Given the description of an element on the screen output the (x, y) to click on. 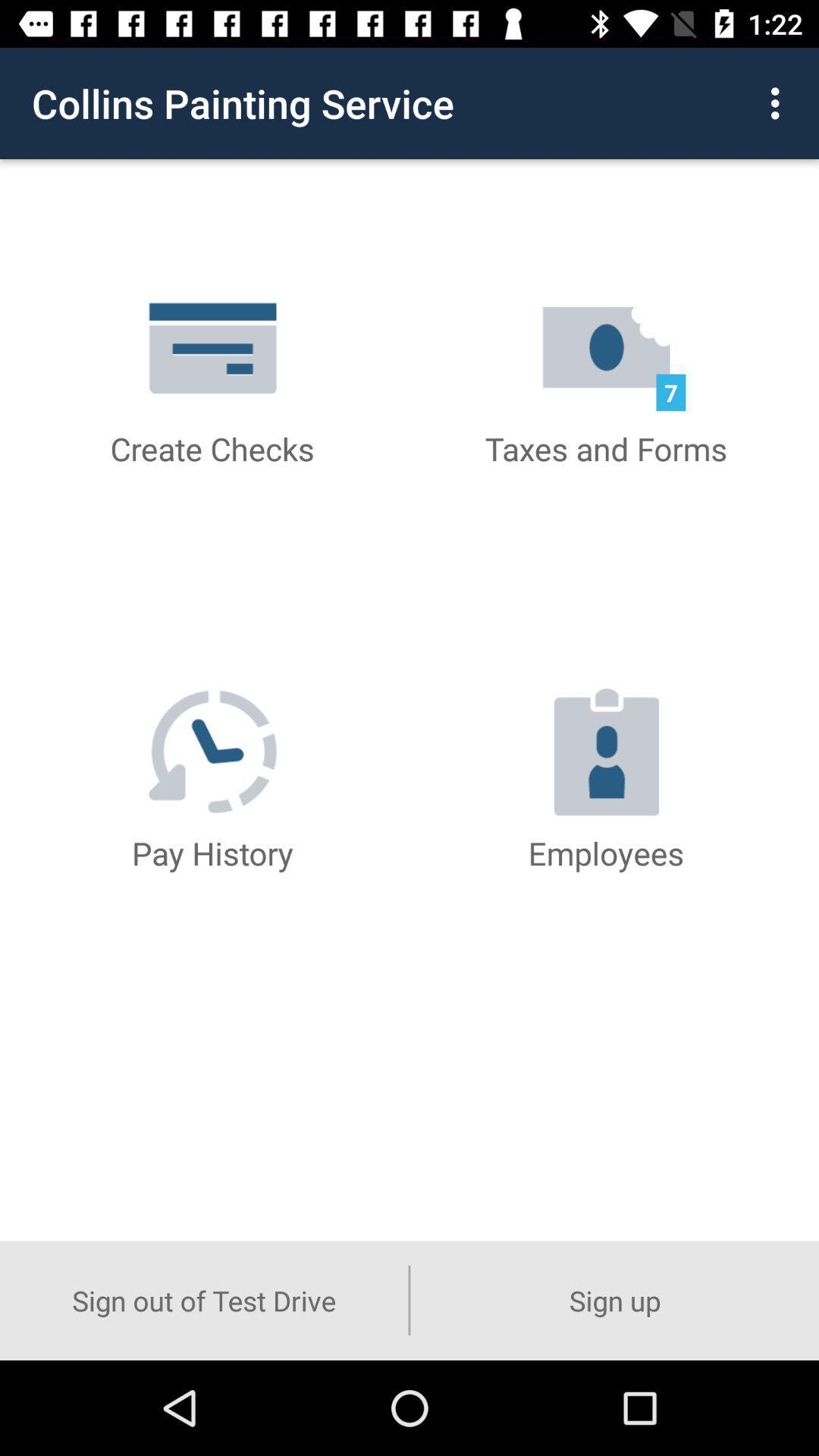
open the item above the sign up (779, 103)
